Given the description of an element on the screen output the (x, y) to click on. 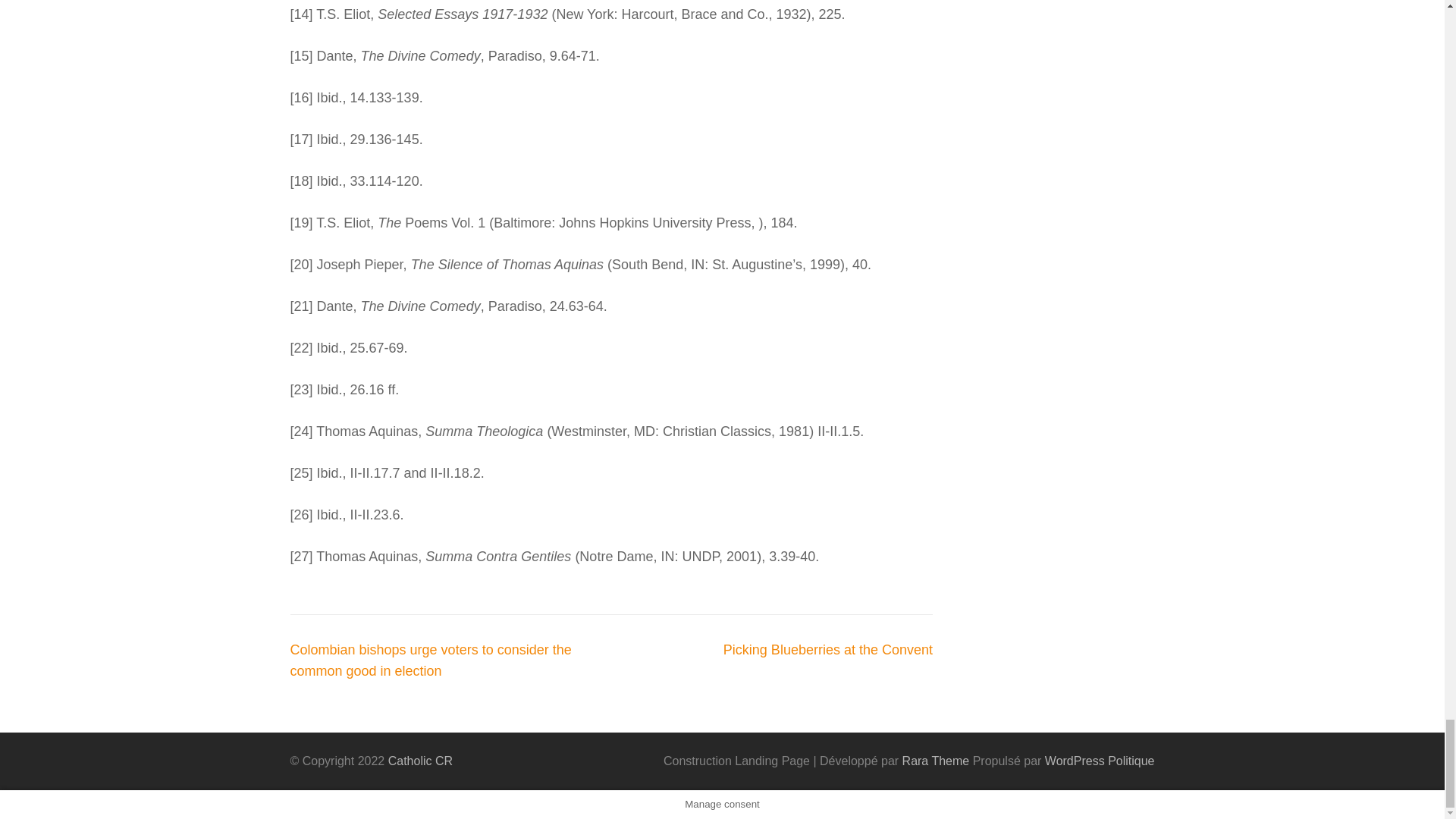
Picking Blueberries at the Convent (828, 649)
